Given the description of an element on the screen output the (x, y) to click on. 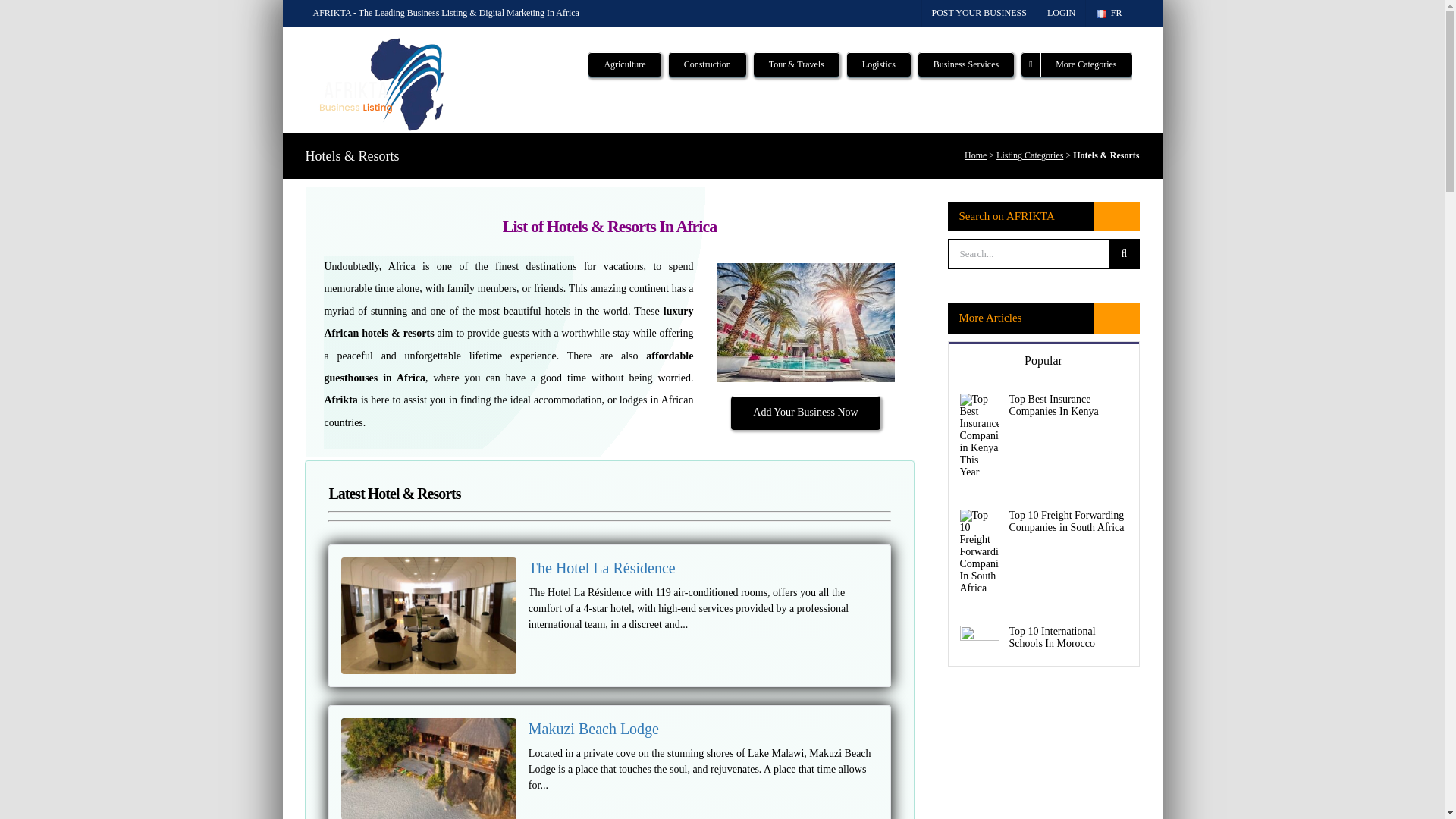
Home (975, 154)
Business Services (965, 63)
Business Services (965, 63)
Listing Categories (1028, 154)
Add Your Business Now (804, 411)
LOGIN (1060, 13)
List your Business (978, 13)
Agriculture (624, 63)
Construction (706, 63)
Afrikta (339, 399)
POST YOUR BUSINESS (978, 13)
Hotels (805, 322)
FR (1108, 13)
Makuzi Beach Lodge (593, 728)
More Categories (1076, 63)
